Given the description of an element on the screen output the (x, y) to click on. 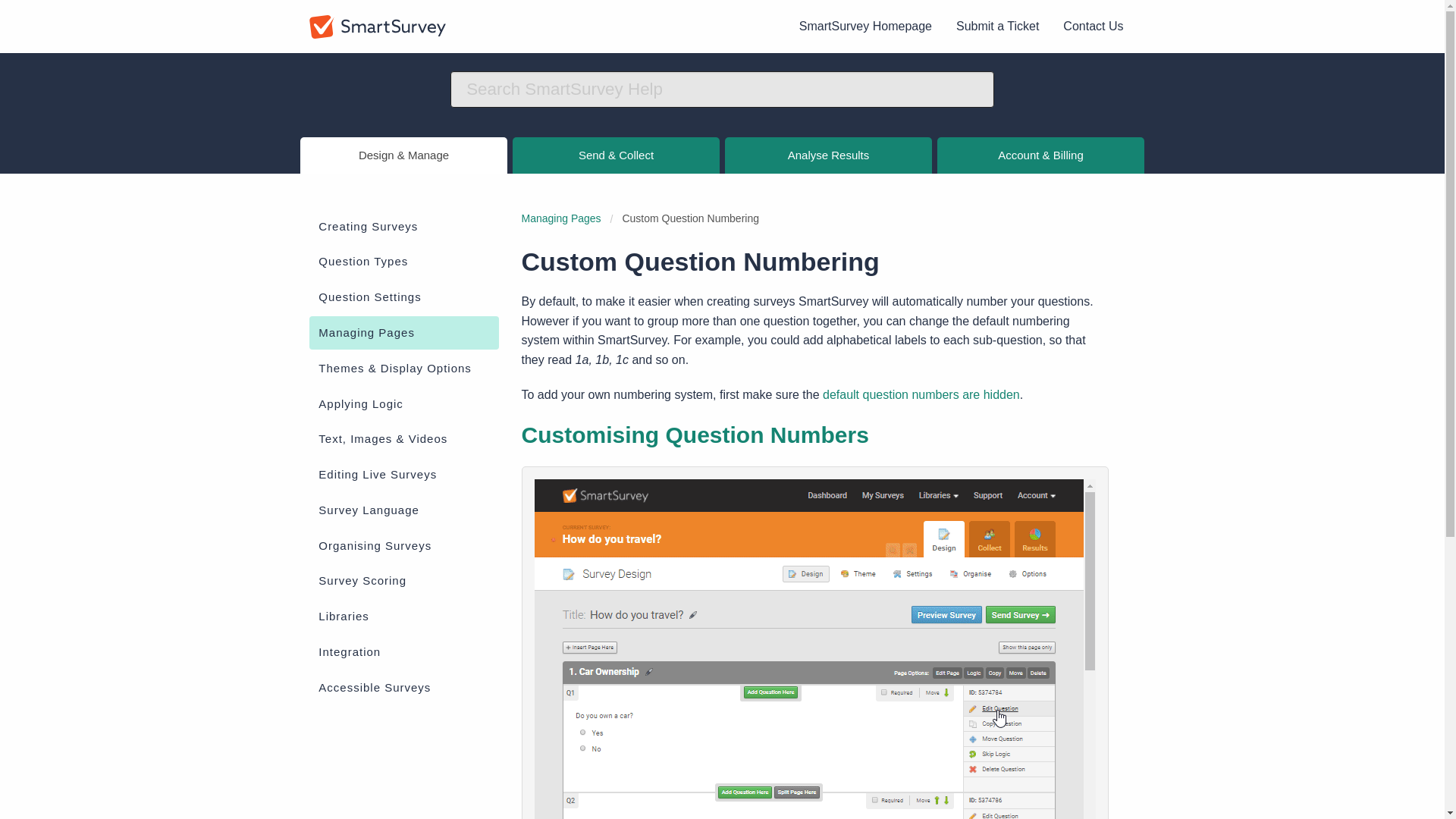
Contact Us (1093, 26)
Applying Logic (403, 403)
Integration (403, 652)
Submit a Ticket (997, 26)
Managing Pages (561, 218)
SmartSurvey Homepage (865, 26)
Survey Scoring (403, 581)
Question Types (403, 262)
Managing Pages (403, 332)
Accessible Surveys (403, 687)
Question Settings (403, 296)
Analyse Results (829, 155)
Libraries (403, 616)
Survey Language (403, 510)
Editing Live Surveys (403, 474)
